Given the description of an element on the screen output the (x, y) to click on. 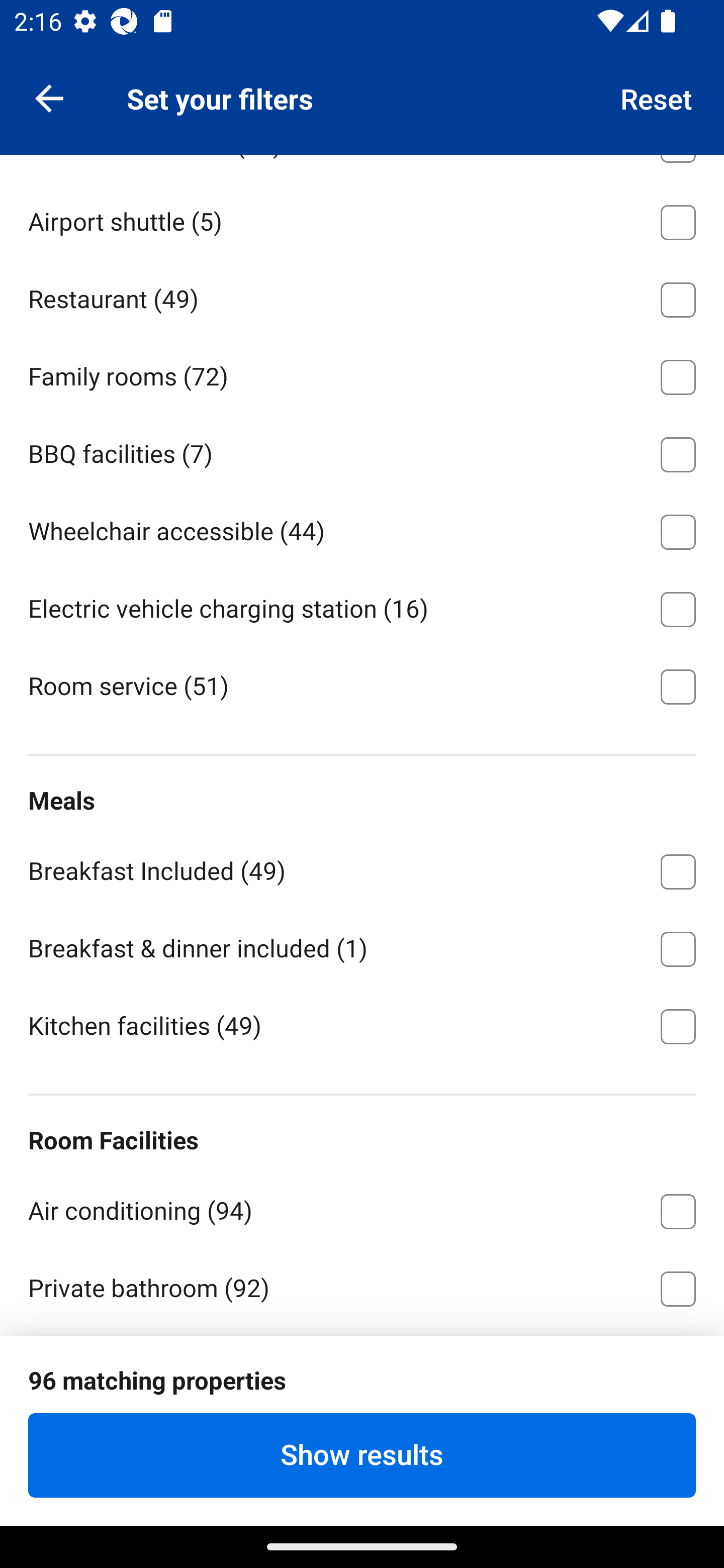
Navigate up (49, 97)
Reset (656, 97)
Airport shuttle ⁦(5) (361, 218)
Restaurant ⁦(49) (361, 296)
Family rooms ⁦(72) (361, 373)
BBQ facilities ⁦(7) (361, 450)
Wheelchair accessible ⁦(44) (361, 528)
Electric vehicle charging station ⁦(16) (361, 605)
Room service ⁦(51) (361, 684)
Breakfast Included ⁦(49) (361, 868)
Breakfast & dinner included ⁦(1) (361, 945)
Kitchen facilities ⁦(49) (361, 1024)
Air conditioning ⁦(94) (361, 1207)
Private bathroom ⁦(92) (361, 1285)
Show results (361, 1454)
